Given the description of an element on the screen output the (x, y) to click on. 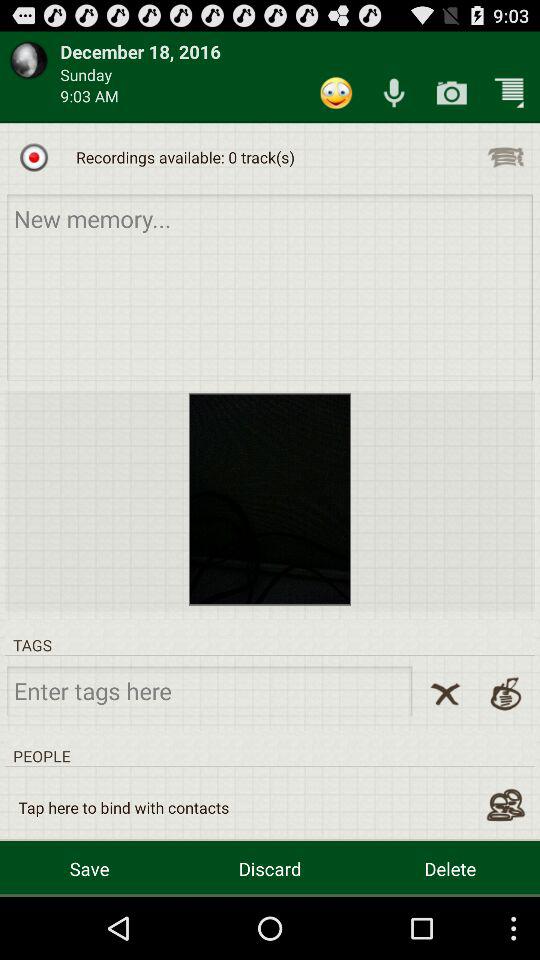
select the icon above people (445, 694)
